Given the description of an element on the screen output the (x, y) to click on. 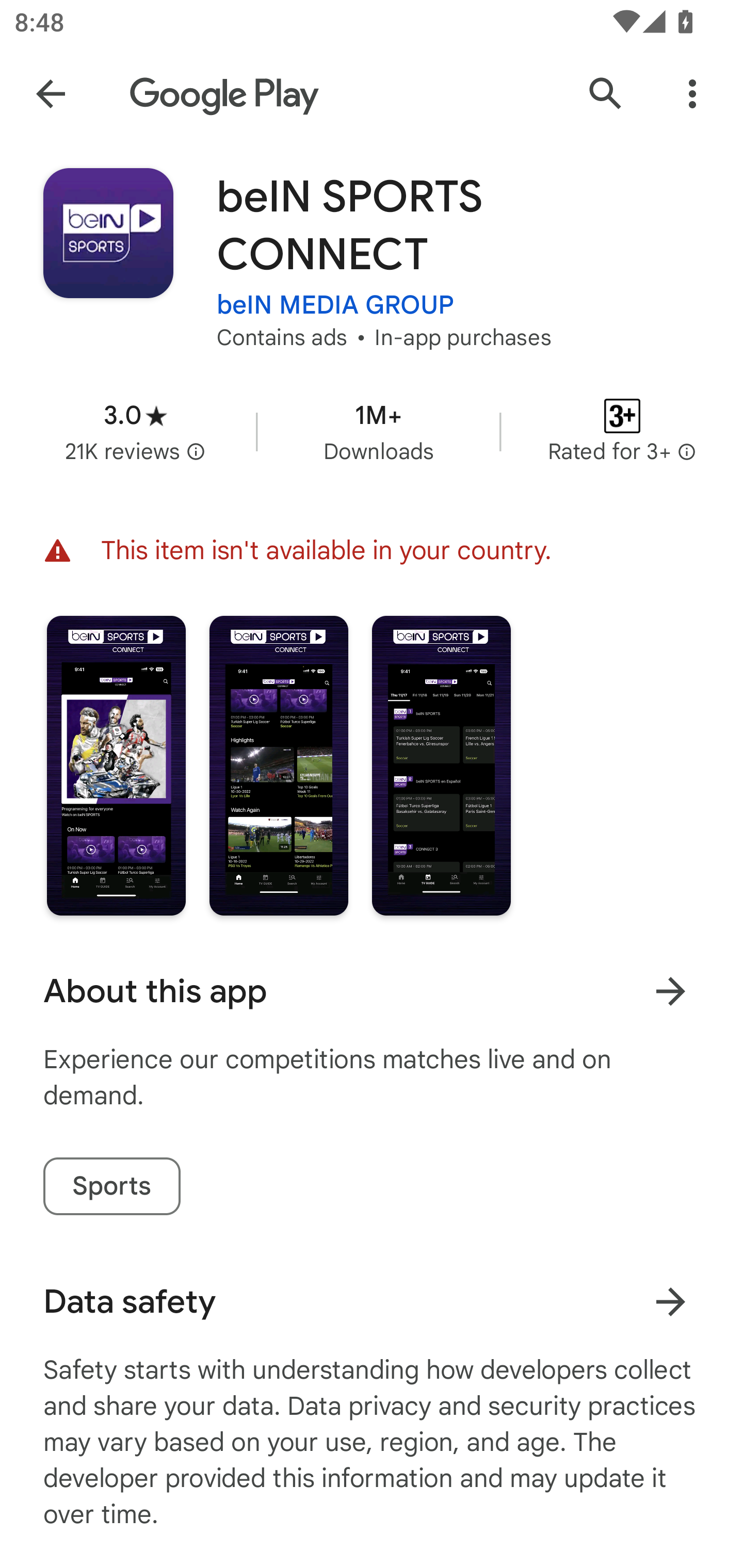
Navigate up (50, 93)
Search Google Play (605, 93)
More Options (692, 93)
beIN MEDIA GROUP (334, 304)
Average rating 3.0 stars in 21 thousand reviews (135, 431)
Content rating Rated for 3+ (622, 431)
Screenshot "1" of "3" (115, 765)
Screenshot "2" of "3" (278, 765)
Screenshot "3" of "3" (441, 765)
About this app Learn more About this app (371, 990)
Learn more About this app (670, 991)
Sports tag (111, 1186)
Data safety Learn more about data safety (371, 1301)
Learn more about data safety (670, 1302)
